Given the description of an element on the screen output the (x, y) to click on. 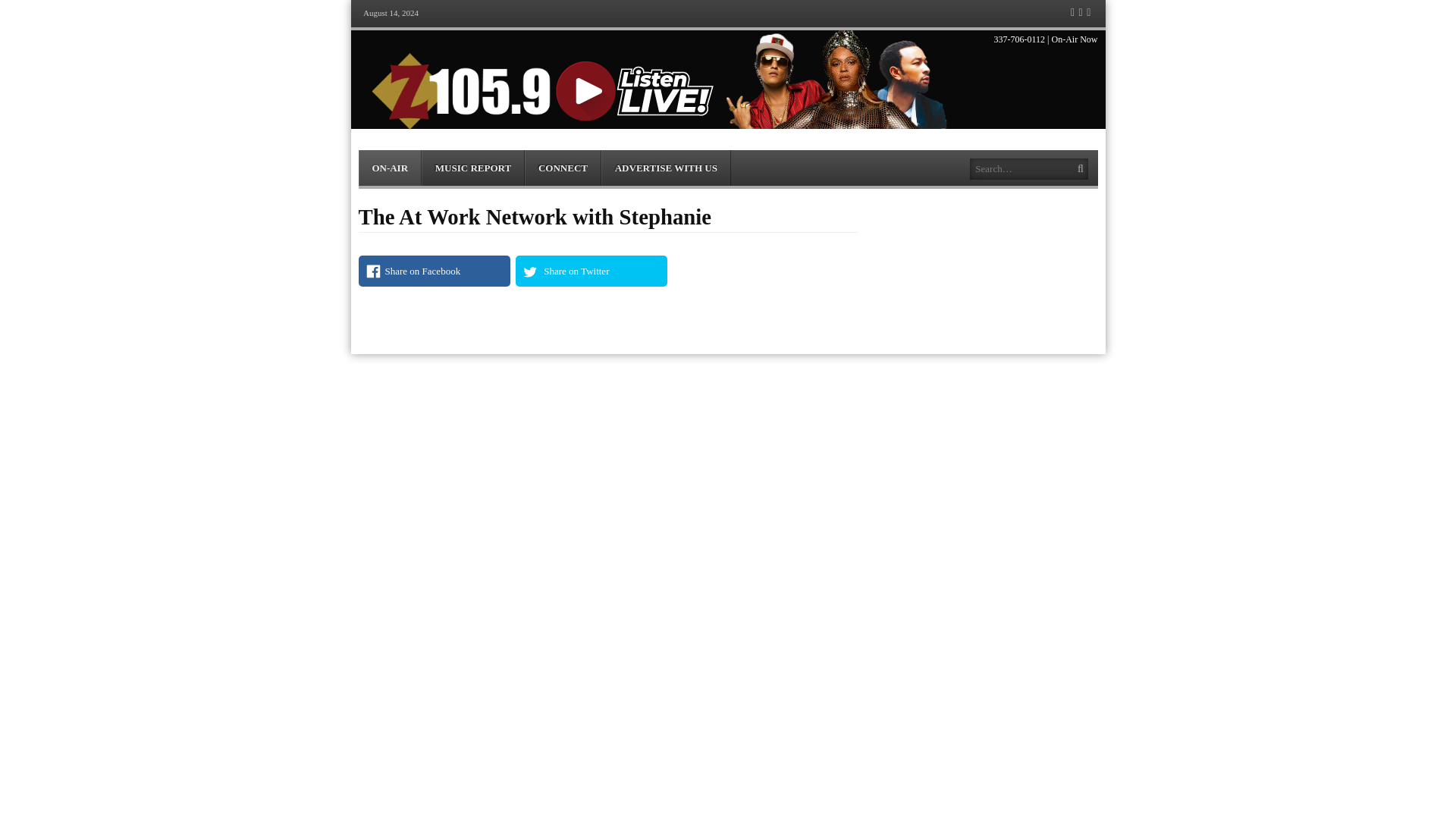
ADVERTISE WITH US (665, 167)
Skip to content (387, 156)
Skip to content (387, 156)
Share on Facebook (433, 270)
MUSIC REPORT (473, 167)
Share on Twitter (590, 270)
CONNECT (562, 167)
ON-AIR (389, 167)
